Given the description of an element on the screen output the (x, y) to click on. 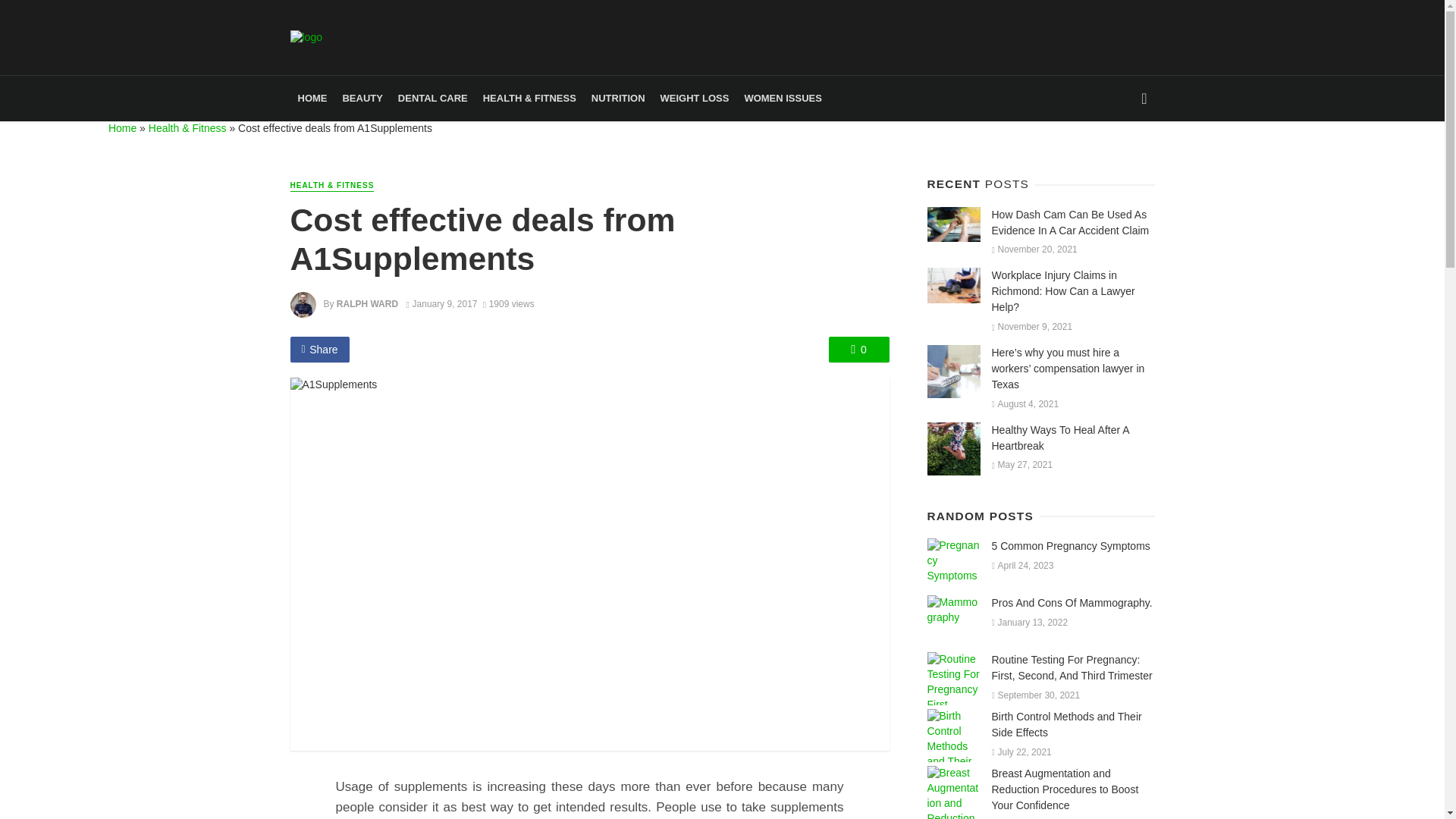
5 Common Pregnancy Symptoms (1070, 546)
How Dash Cam Can Be Used As Evidence In A Car Accident Claim (952, 224)
November 20, 2021 at 3:28 am (1034, 249)
Workplace Injury Claims in Richmond: How Can a Lawyer Help? (952, 285)
Posts by Ralph Ward (366, 303)
Healthy Ways To Heal After A Heartbreak (1072, 438)
How Dash Cam Can Be Used As Evidence In A Car Accident Claim (1072, 223)
Workplace Injury Claims in Richmond: How Can a Lawyer Help? (1072, 291)
Share (319, 349)
Home (121, 128)
